Given the description of an element on the screen output the (x, y) to click on. 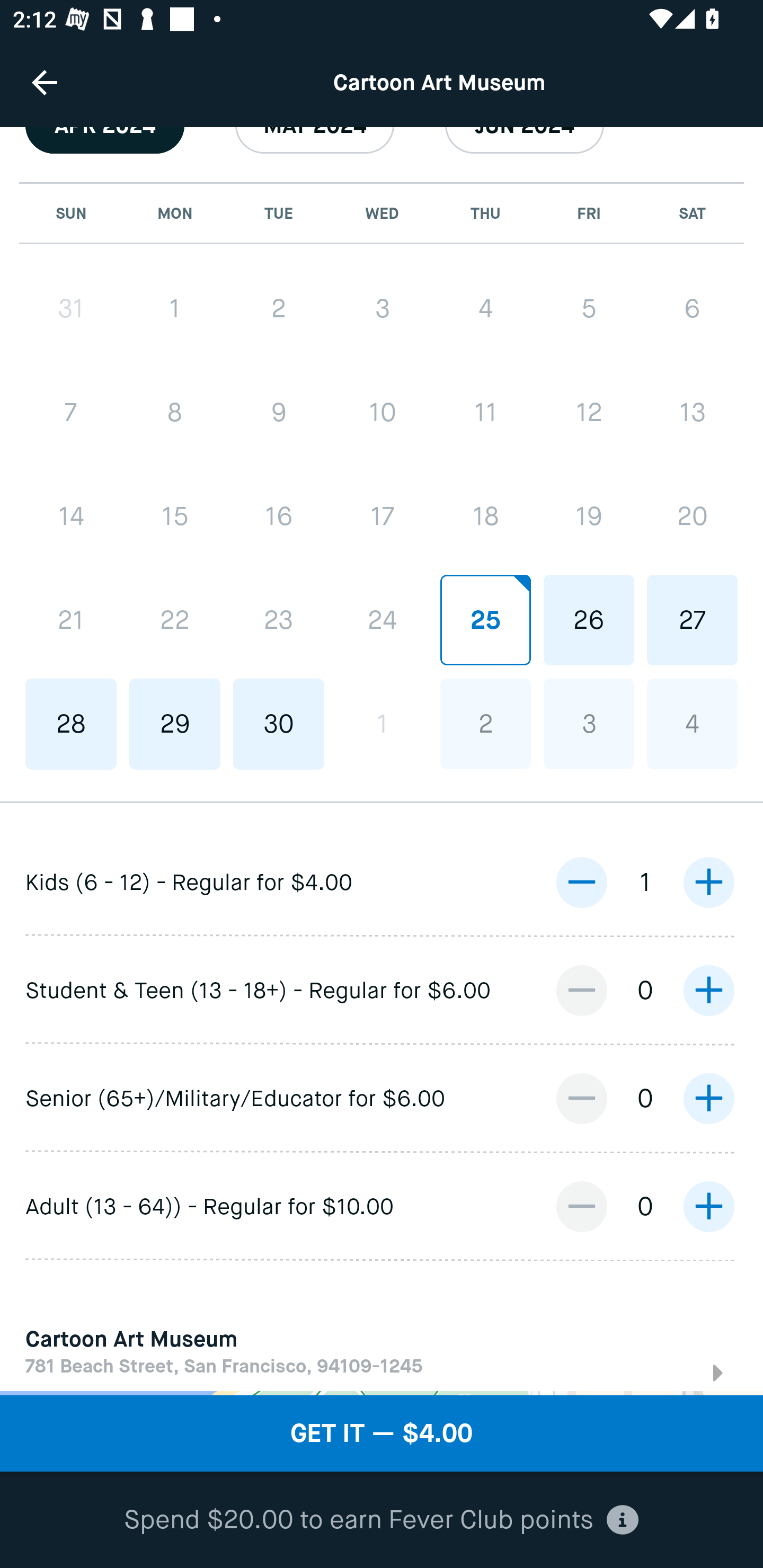
Navigate up (44, 82)
31 (70, 308)
1 (174, 308)
2 (278, 308)
3 (382, 308)
4 (485, 308)
5 (588, 308)
6 (692, 308)
7 (70, 411)
8 (174, 411)
9 (278, 411)
10 (382, 411)
11 (485, 411)
12 (588, 411)
13 (692, 411)
14 (70, 515)
15 (174, 515)
16 (278, 515)
17 (382, 515)
18 (485, 515)
19 (588, 515)
20 (692, 515)
21 (70, 620)
22 (174, 620)
23 (278, 620)
24 (382, 619)
25 (485, 619)
26 (588, 619)
27 (692, 619)
28 (70, 723)
29 (174, 723)
30 (278, 723)
1 (382, 723)
2 (485, 723)
3 (588, 723)
4 (692, 723)
decrease (581, 882)
increase (708, 882)
decrease (581, 989)
increase (708, 989)
decrease (581, 1097)
increase (708, 1097)
decrease (581, 1206)
increase (708, 1206)
Google Map (381, 1392)
GET IT — $4.00 (381, 1433)
Spend $20.00 to earn Fever Club points (381, 1519)
